Given the description of an element on the screen output the (x, y) to click on. 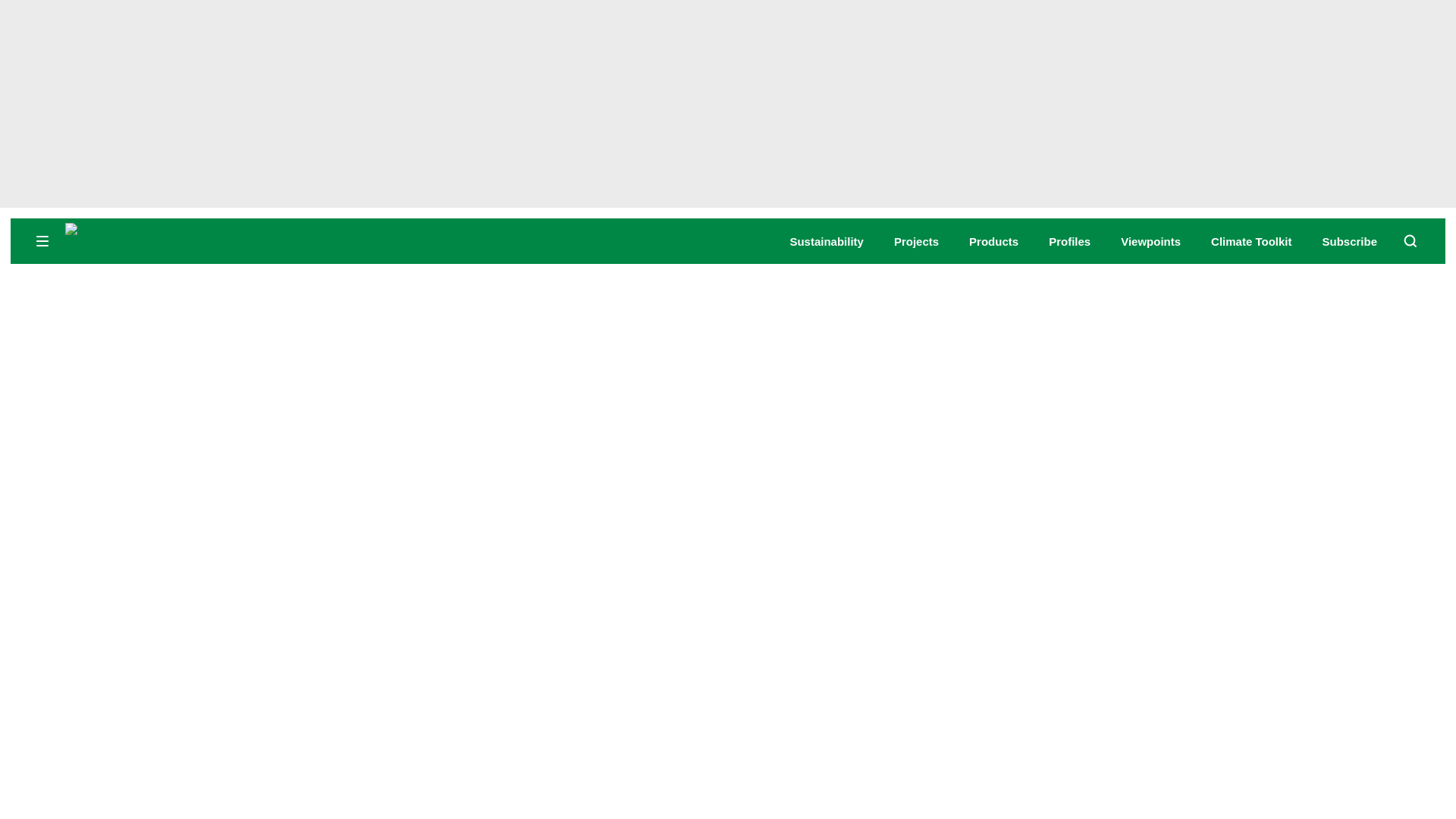
Climate Toolkit (1251, 241)
Sustainability (826, 241)
Projects (916, 241)
Products (993, 241)
Profiles (1069, 241)
Viewpoints (1150, 241)
METROPOLIS (181, 240)
Subscribe (1349, 241)
